Given the description of an element on the screen output the (x, y) to click on. 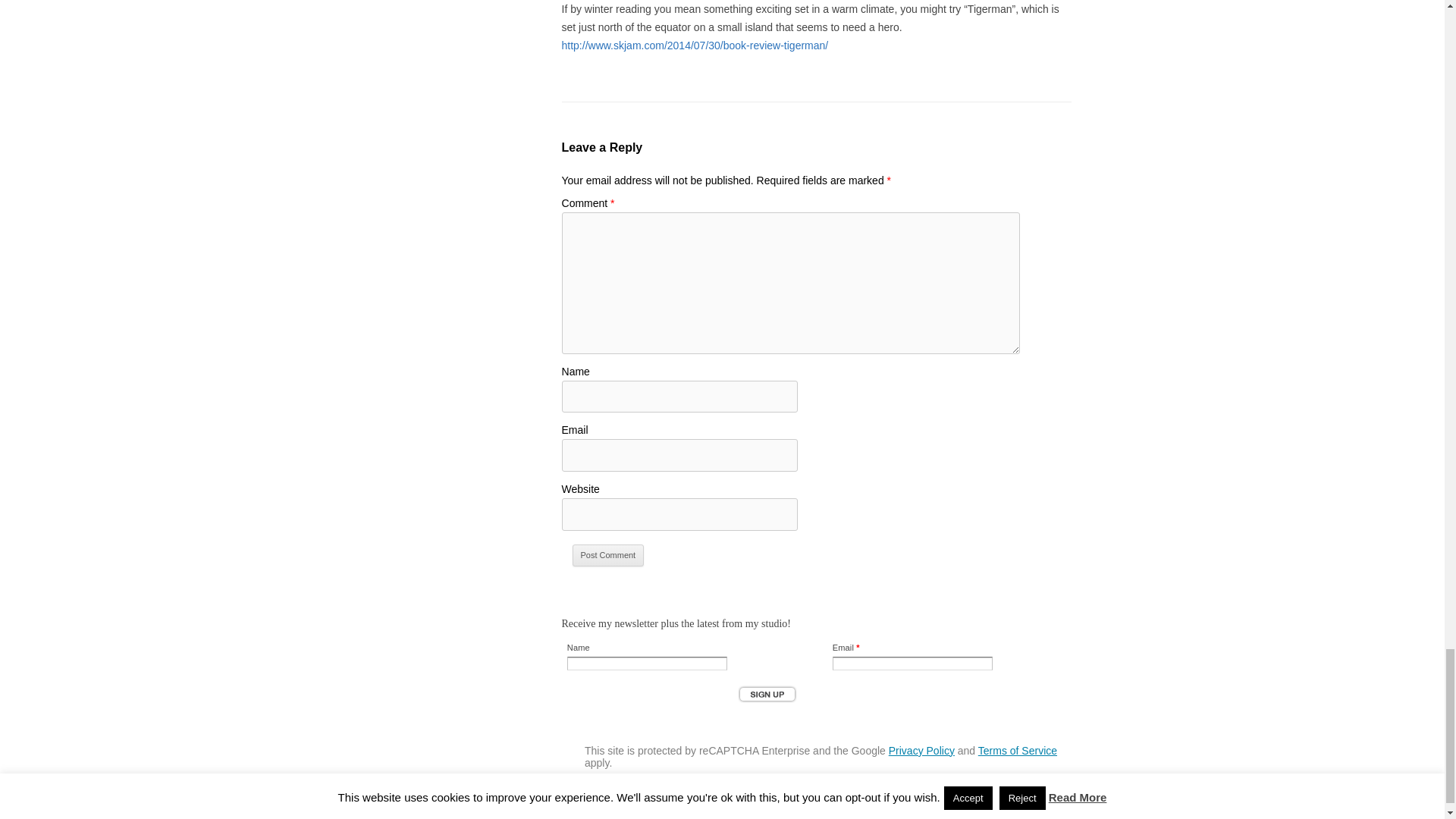
Post Comment (608, 555)
Vickie Martin (656, 809)
WordPress websites and blogs for artists (733, 809)
